Given the description of an element on the screen output the (x, y) to click on. 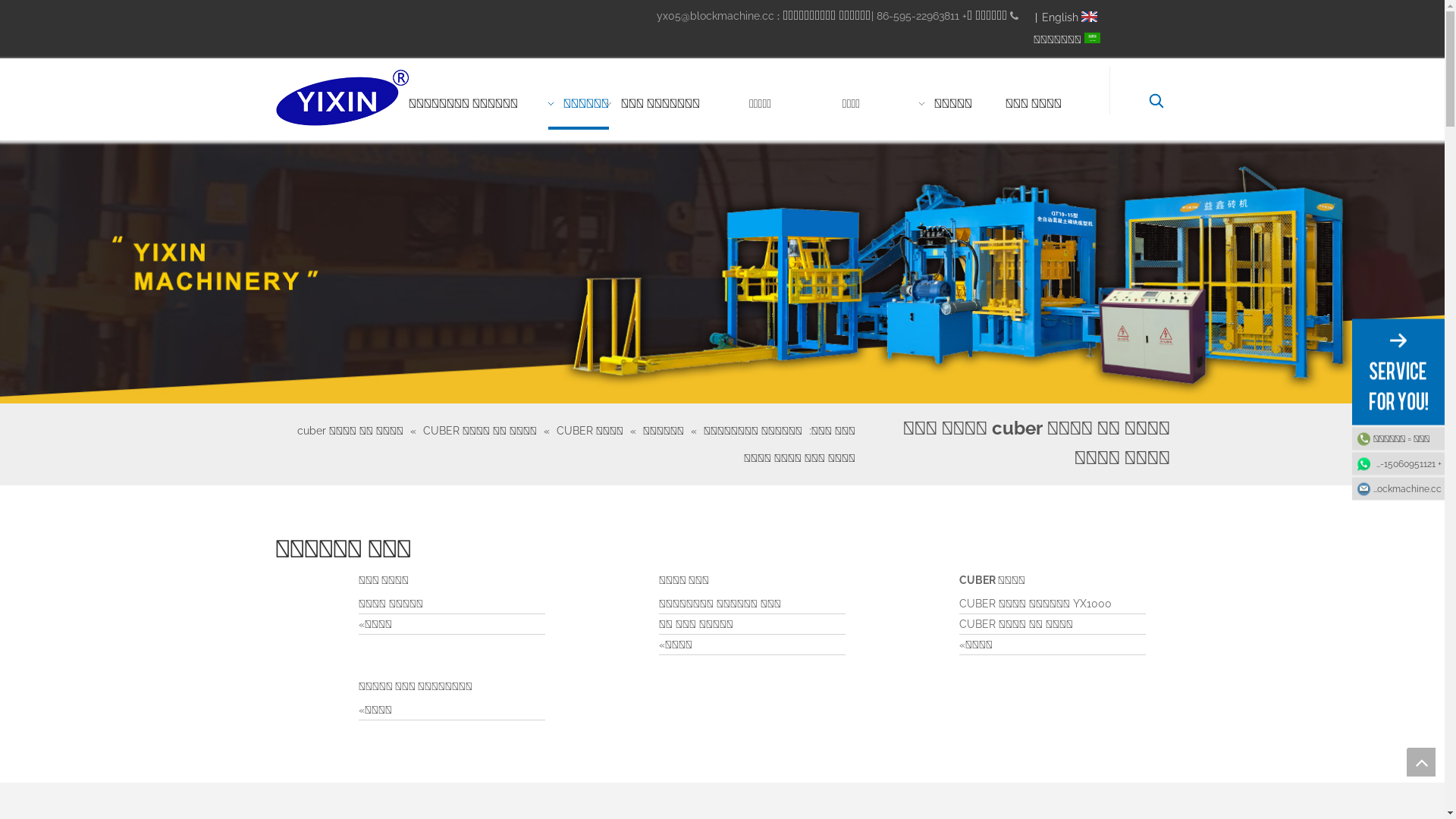
B5 Element type: hover (722, 270)
English Element type: text (1070, 18)
yx05@blockmachine.cc Element type: text (1398, 488)
yx05@blockmachine.cc Element type: text (715, 15)
top Element type: text (1420, 761)
+ 86-15060951121 Element type: text (1398, 462)
